Given the description of an element on the screen output the (x, y) to click on. 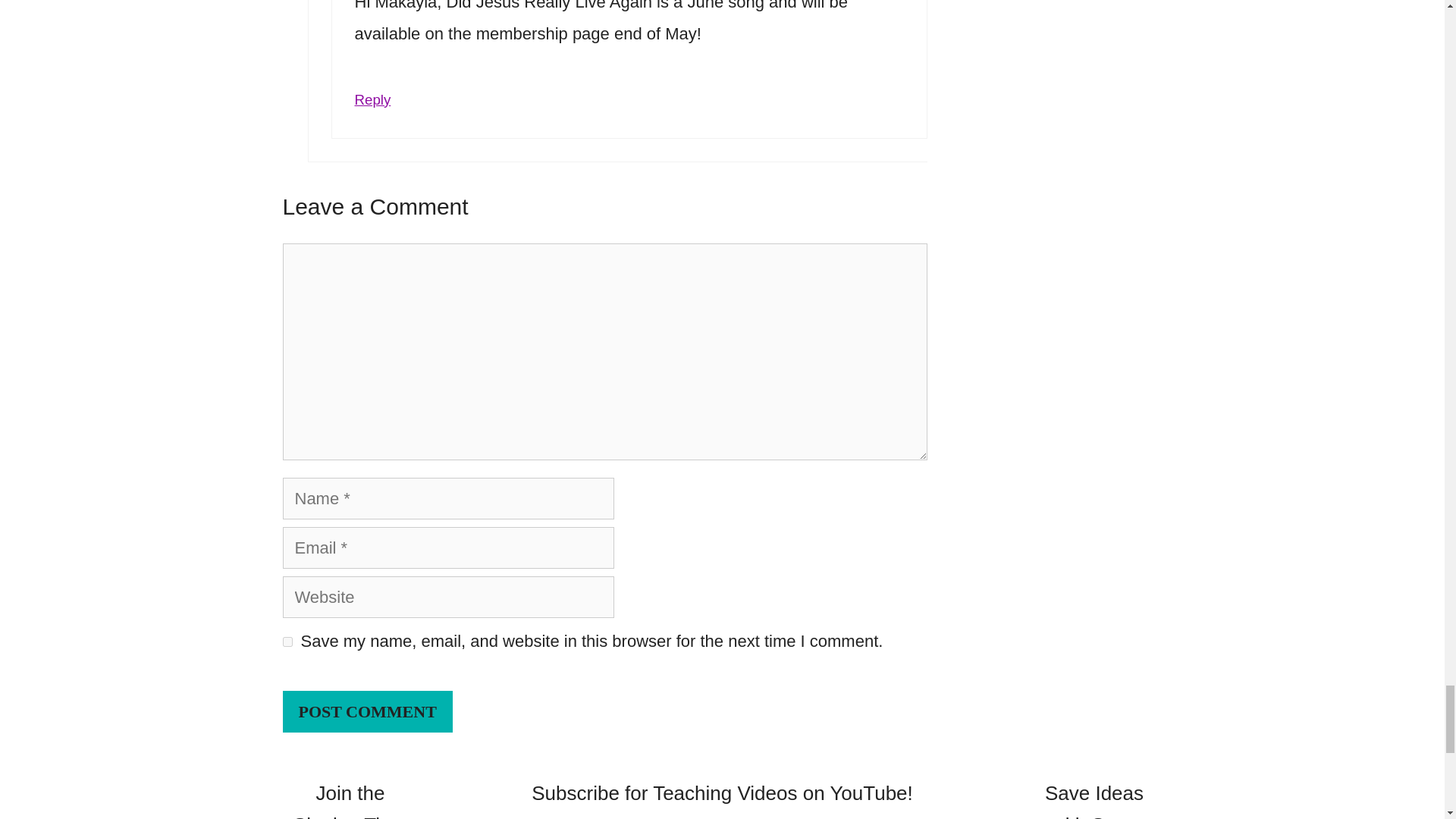
Post Comment (366, 711)
yes (287, 642)
